Given the description of an element on the screen output the (x, y) to click on. 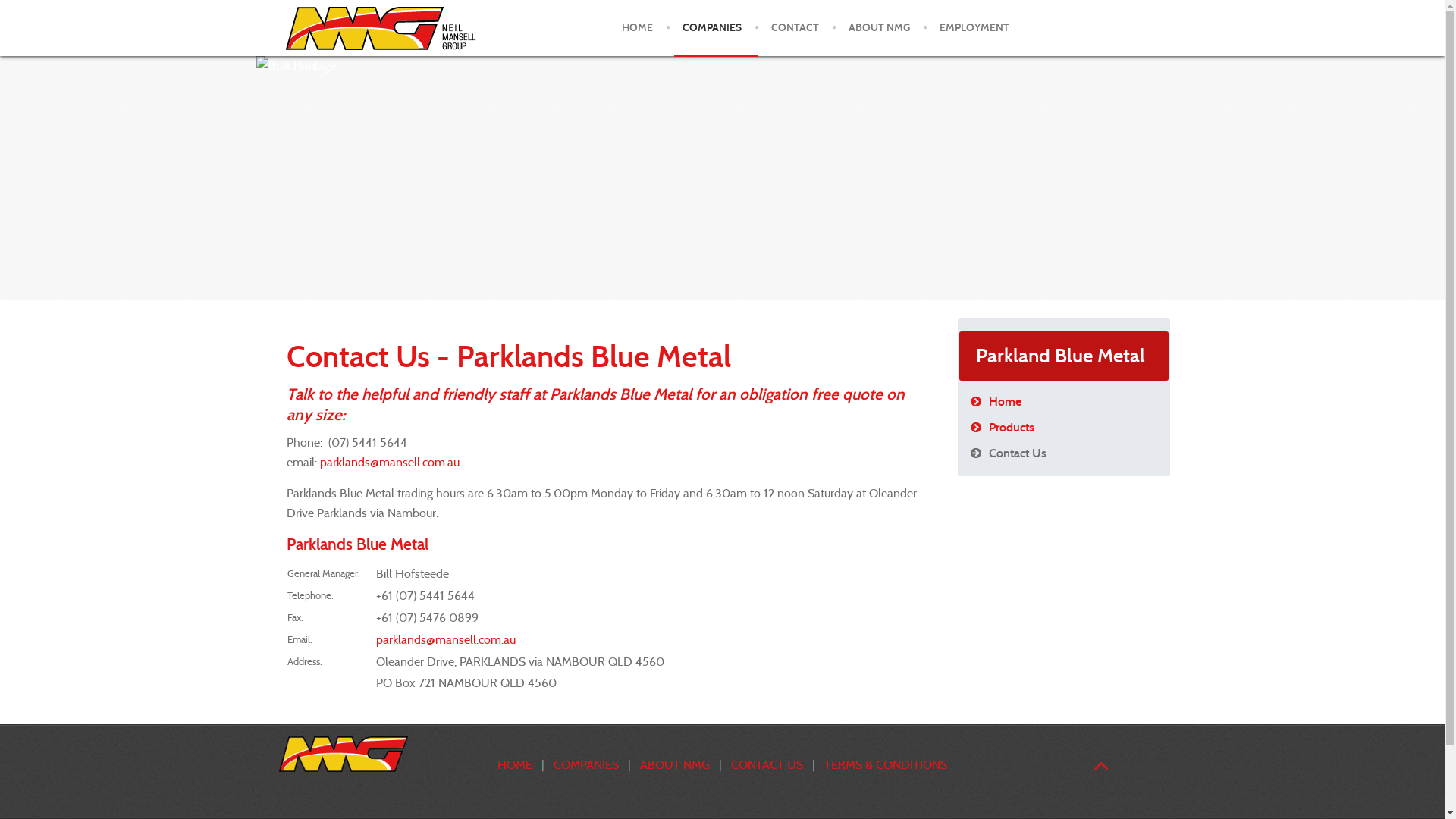
COMPANIES Element type: text (585, 764)
TERMS & CONDITIONS Element type: text (885, 764)
parklands@mansell.com.au Element type: text (389, 462)
Contact Us Element type: text (1063, 453)
HOME Element type: text (637, 27)
Neil Mansell Group Element type: hover (380, 28)
CONTACT US Element type: text (767, 764)
ABOUT NMG Element type: text (676, 764)
EMPLOYMENT Element type: text (973, 27)
Products Element type: text (1063, 427)
Home Element type: text (1063, 401)
ABOUT NMG Element type: text (878, 27)
Neil Mansell Group | Home Page Element type: hover (343, 753)
COMPANIES Element type: text (711, 27)
parklands@mansell.com.au Element type: text (445, 639)
HOME Element type: text (514, 764)
CONTACT Element type: text (794, 27)
